Given the description of an element on the screen output the (x, y) to click on. 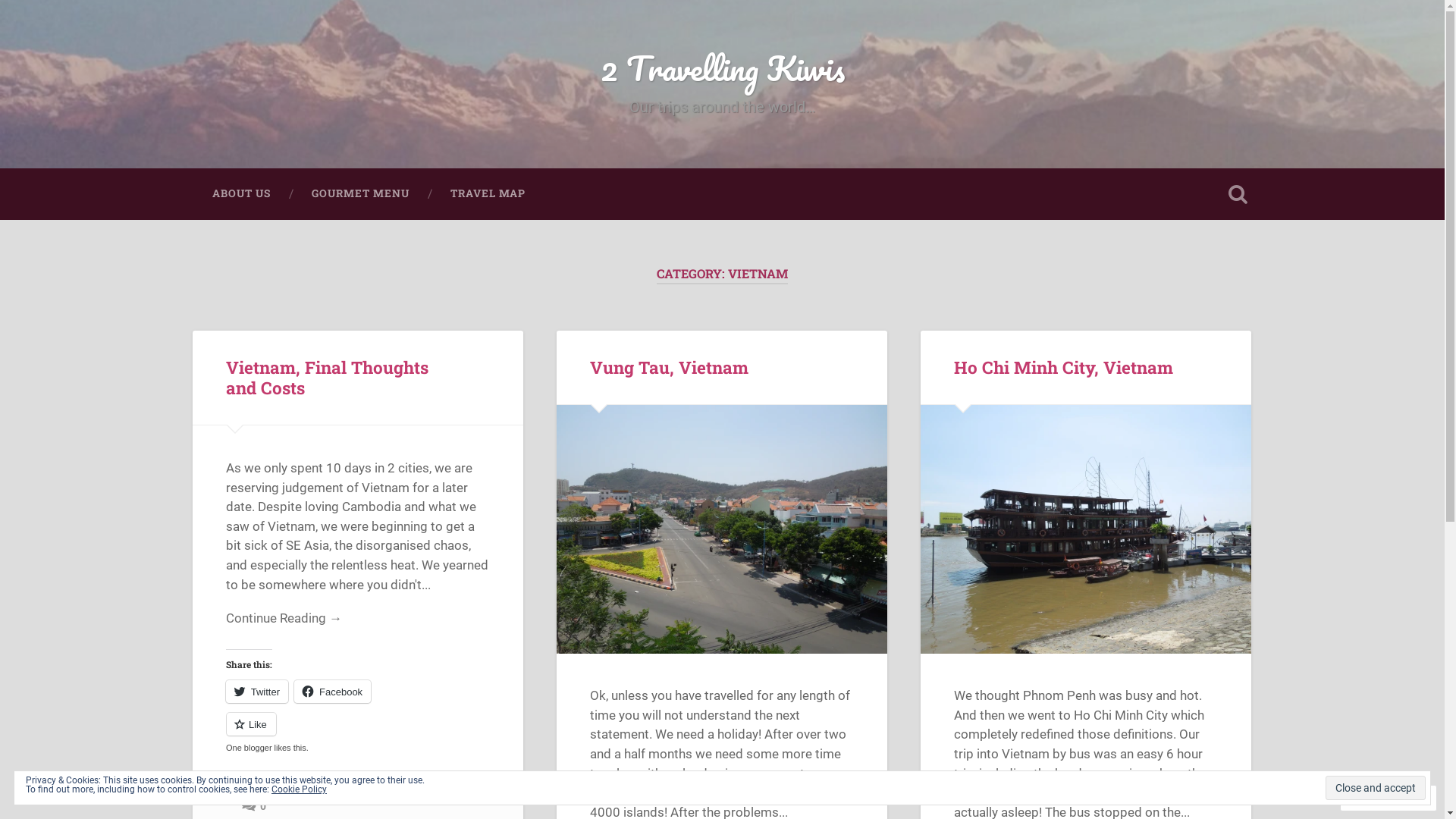
0 Element type: text (253, 804)
Like or Reblog Element type: hover (357, 732)
TRAVEL MAP Element type: text (487, 193)
Vietnam, Final Thoughts and Costs Element type: text (326, 376)
Ho Chi Minh City, Vietnam Element type: text (1063, 366)
GOURMET MENU Element type: text (360, 193)
Twitter Element type: text (256, 691)
2 Travelling Kiwis Element type: text (722, 67)
Follow Element type: text (1374, 797)
Vung Tau, Vietnam Element type: hover (721, 528)
ABOUT US Element type: text (240, 193)
Cookie Policy Element type: text (298, 789)
Facebook Element type: text (332, 691)
Open Search Element type: text (1237, 193)
Close and accept Element type: text (1375, 787)
March 14, 2013 Element type: text (225, 797)
Vung Tau, Vietnam Element type: text (668, 366)
